Given the description of an element on the screen output the (x, y) to click on. 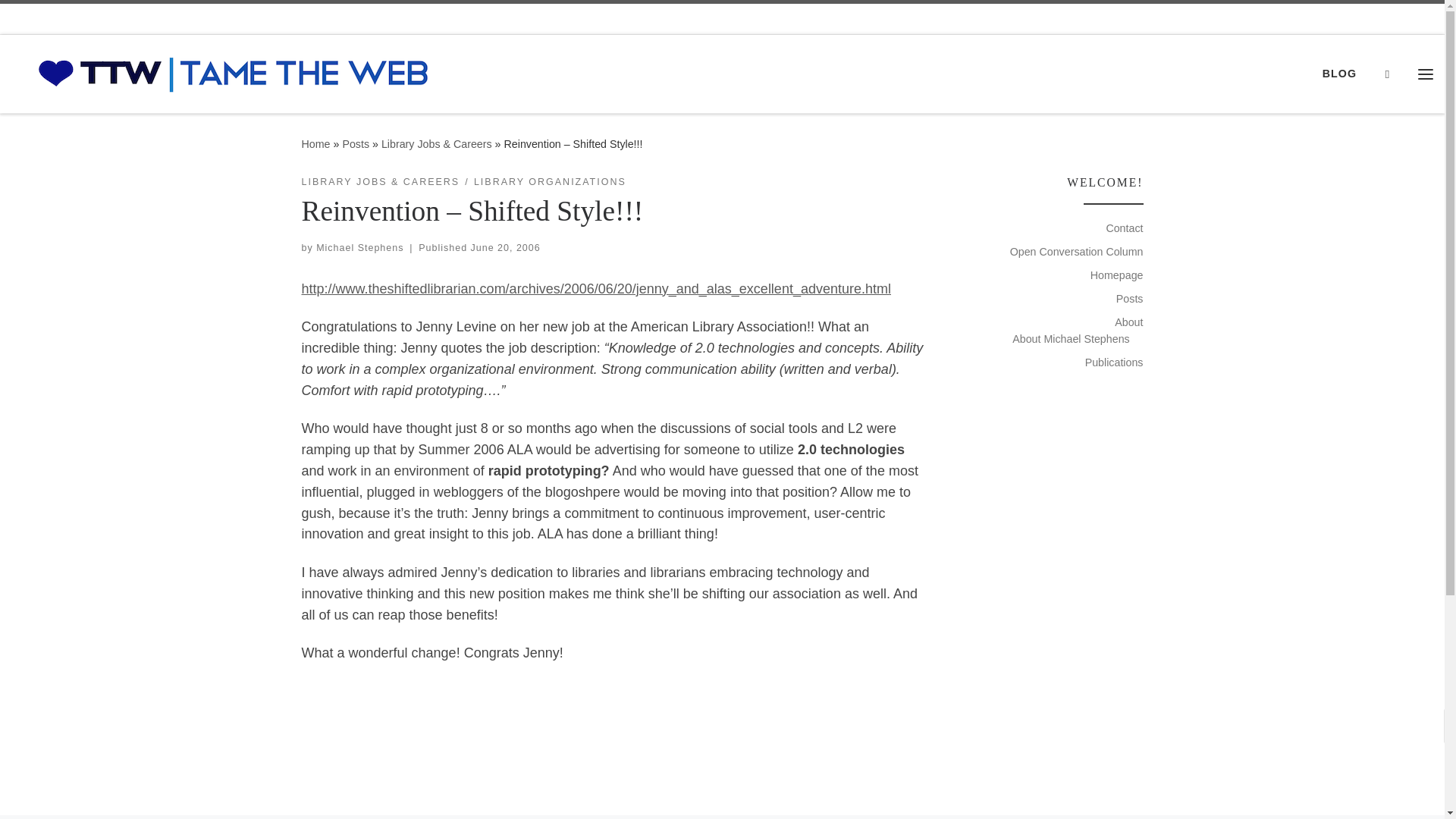
7:45 pm (505, 247)
Home (315, 143)
View all posts in Library Organizations (550, 182)
Posts (355, 143)
Homepage (1116, 274)
Skip to content (60, 20)
Contact (1123, 228)
Tame the Web (315, 143)
Publications (1113, 362)
About Michael Stephens (1070, 338)
